Given the description of an element on the screen output the (x, y) to click on. 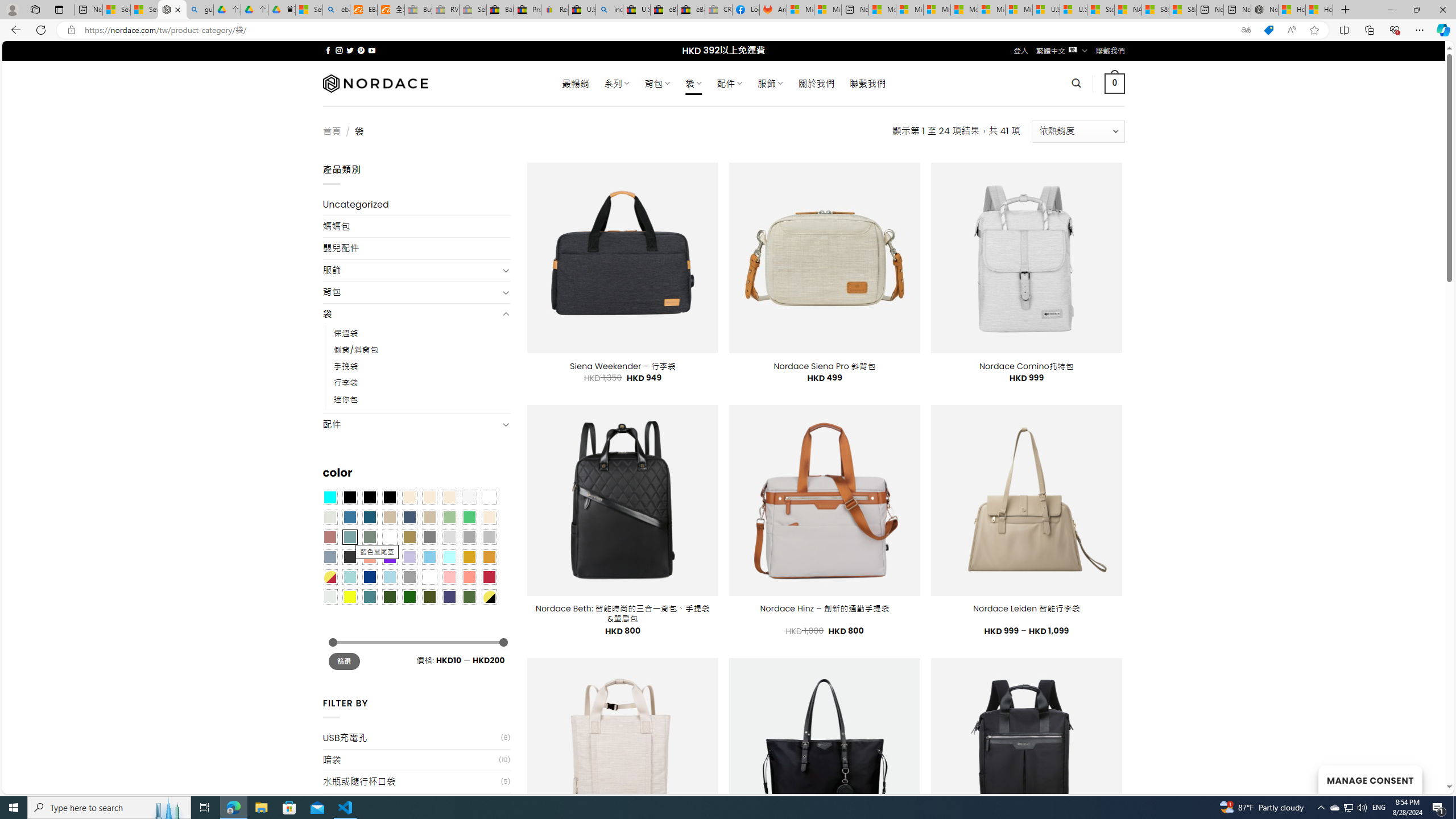
Back (13, 29)
App bar (728, 29)
S&P 500, Nasdaq end lower, weighed by Nvidia dip | Watch (1182, 9)
Personal Profile (12, 9)
Baby Keepsakes & Announcements for sale | eBay (499, 9)
Nordace (374, 83)
